Given the description of an element on the screen output the (x, y) to click on. 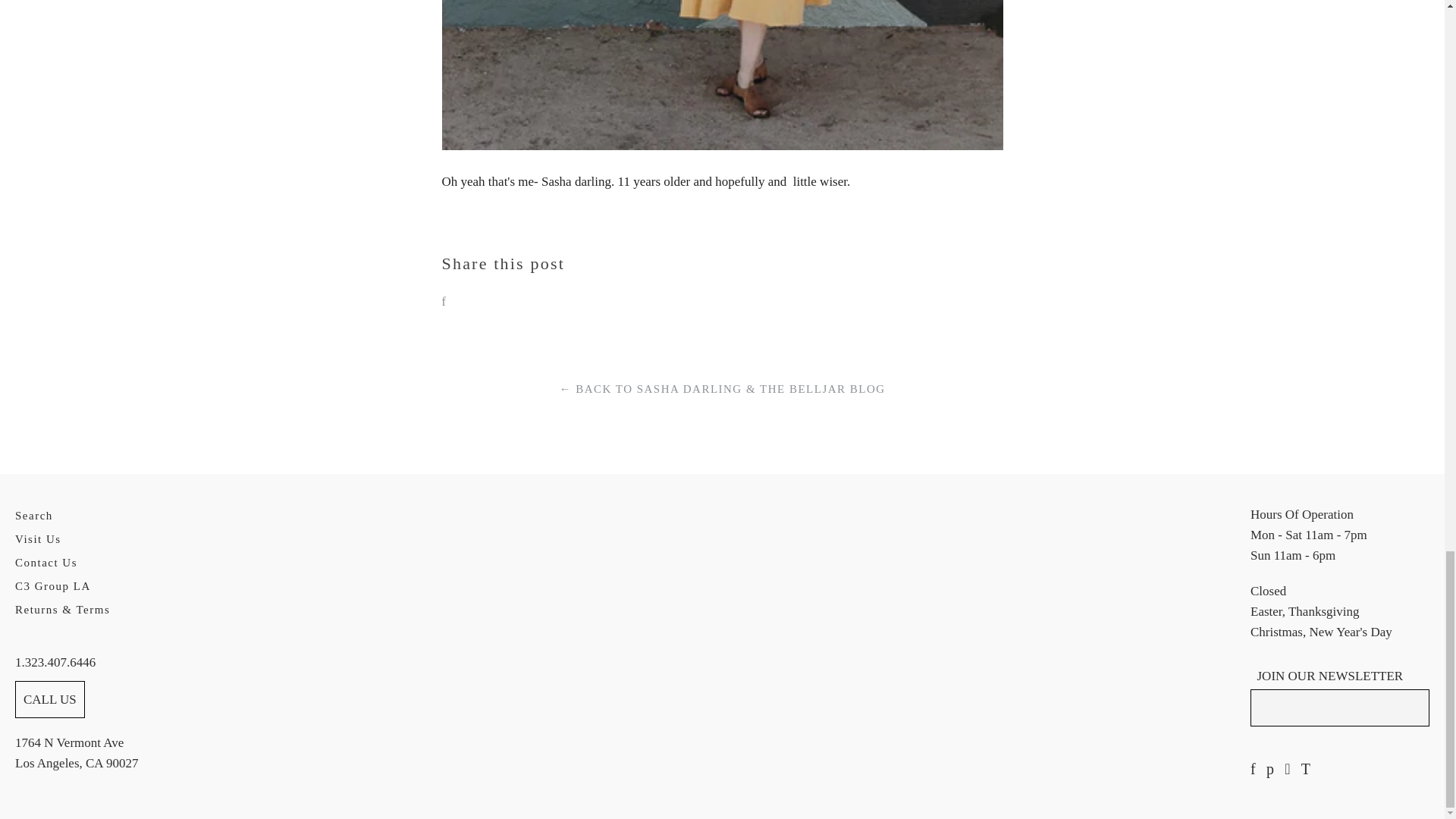
Share on Facebook (442, 301)
